Given the description of an element on the screen output the (x, y) to click on. 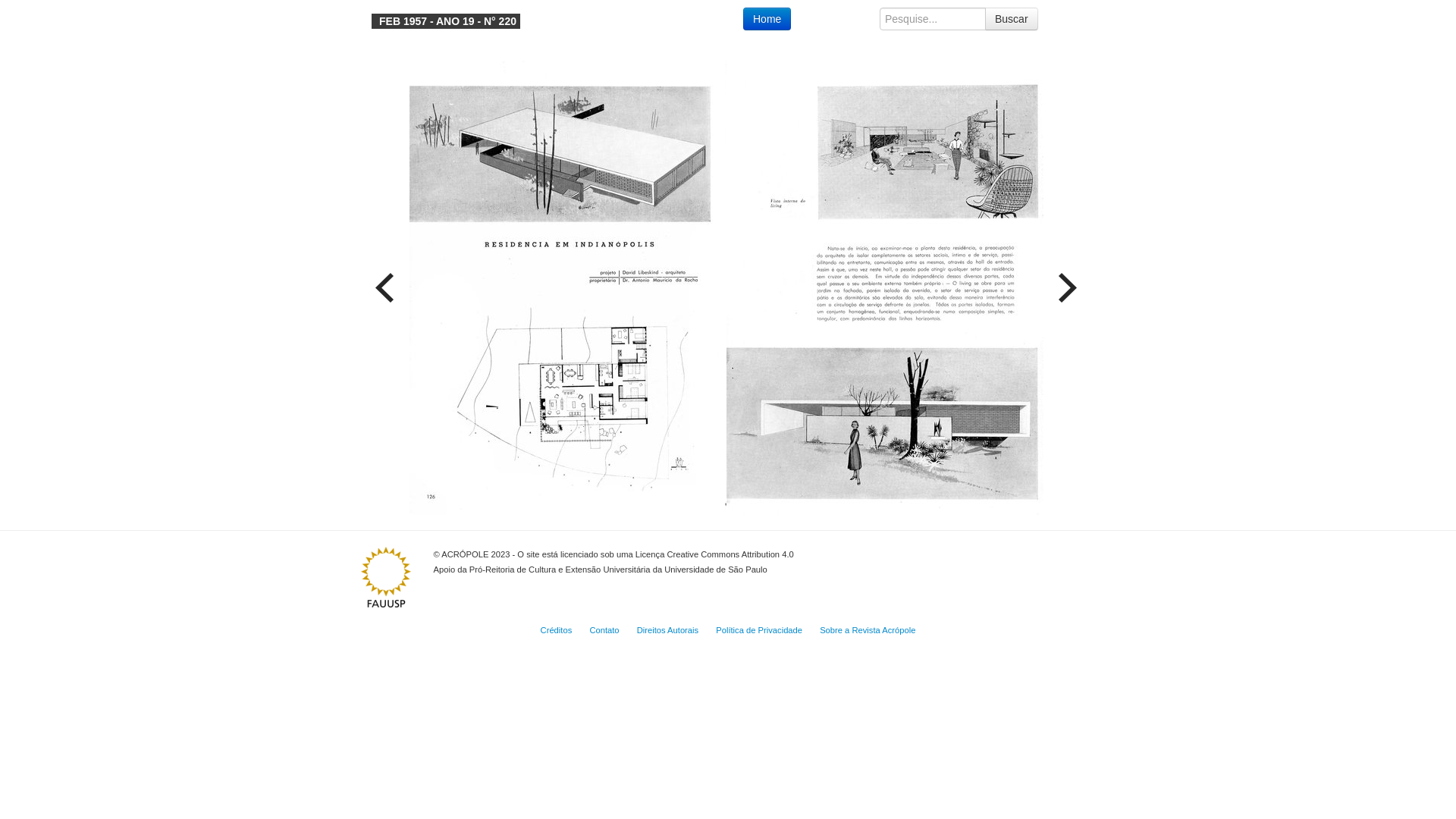
018.jpg Element type: hover (567, 287)
Home Element type: text (766, 18)
Direitos Autorais Element type: text (667, 629)
019.jpg Element type: hover (884, 287)
Buscar Element type: text (1011, 18)
Contato Element type: text (603, 629)
